Given the description of an element on the screen output the (x, y) to click on. 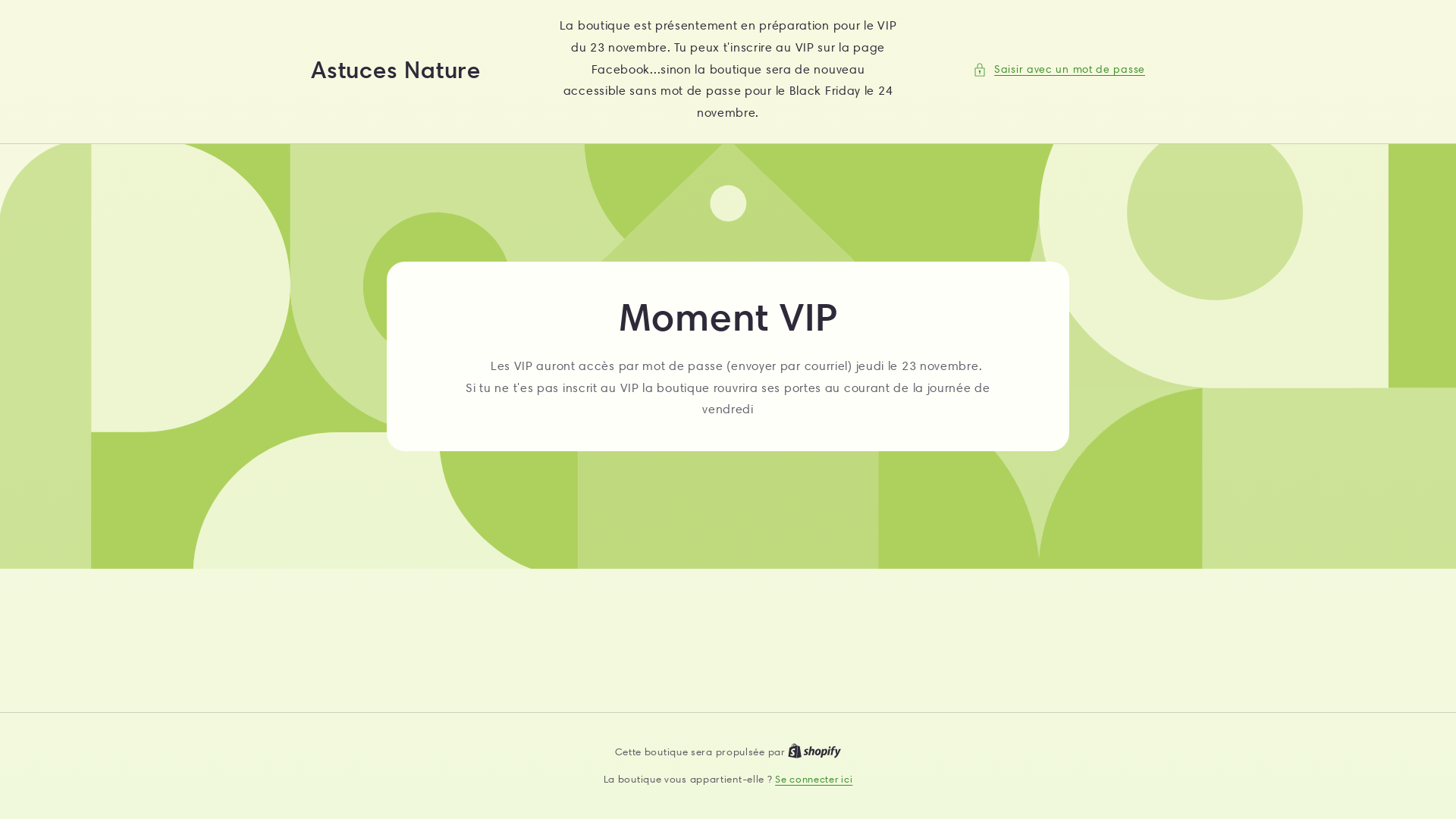
Se connecter ici Element type: text (813, 779)
Shopify logo
Shopify Element type: text (813, 751)
